Given the description of an element on the screen output the (x, y) to click on. 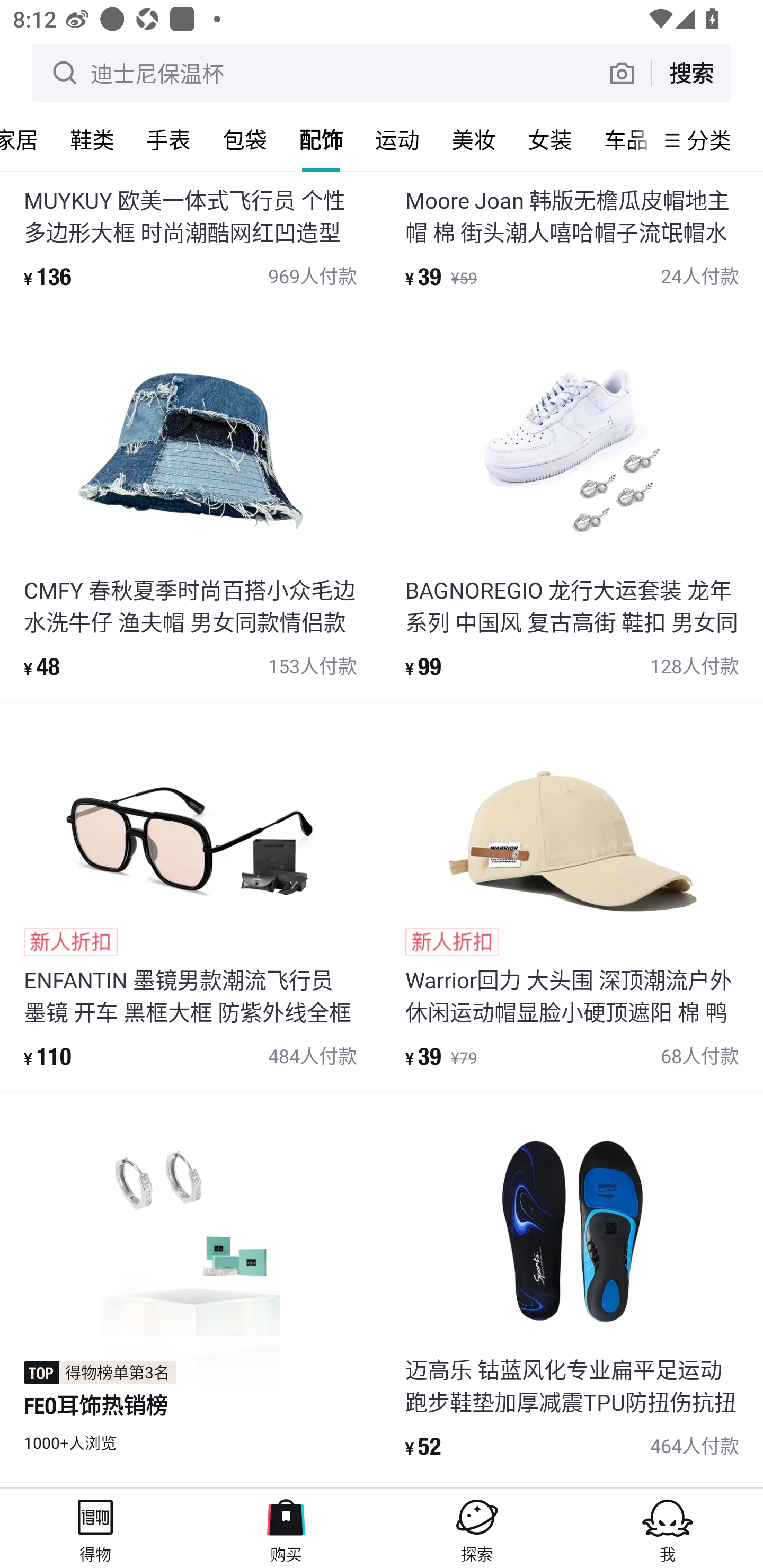
搜索 (690, 72)
家居 (27, 139)
鞋类 (92, 139)
手表 (168, 139)
包袋 (244, 139)
配饰 (321, 139)
运动 (397, 139)
美妆 (473, 139)
女装 (549, 139)
车品 (621, 139)
分类 (708, 139)
得物榜单第3名 FEO耳饰热销榜 1000+人浏览 (190, 1286)
得物 (95, 1528)
购买 (285, 1528)
探索 (476, 1528)
我 (667, 1528)
